Given the description of an element on the screen output the (x, y) to click on. 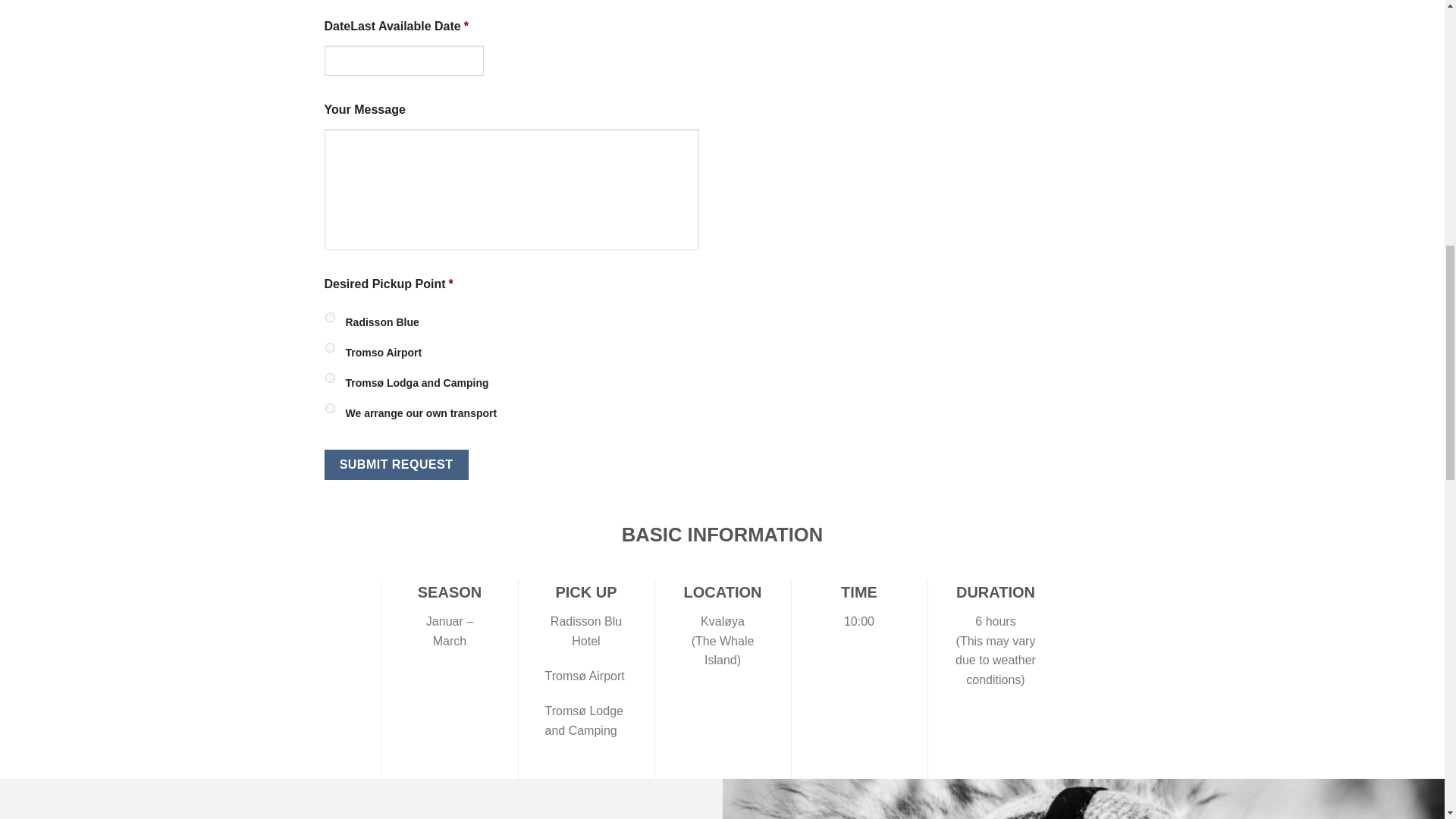
Radisson Blue (329, 317)
We arrange our own transport (329, 408)
Tromso Airport (329, 347)
SUBMIT REQUEST (396, 464)
SUBMIT REQUEST (396, 464)
